Given the description of an element on the screen output the (x, y) to click on. 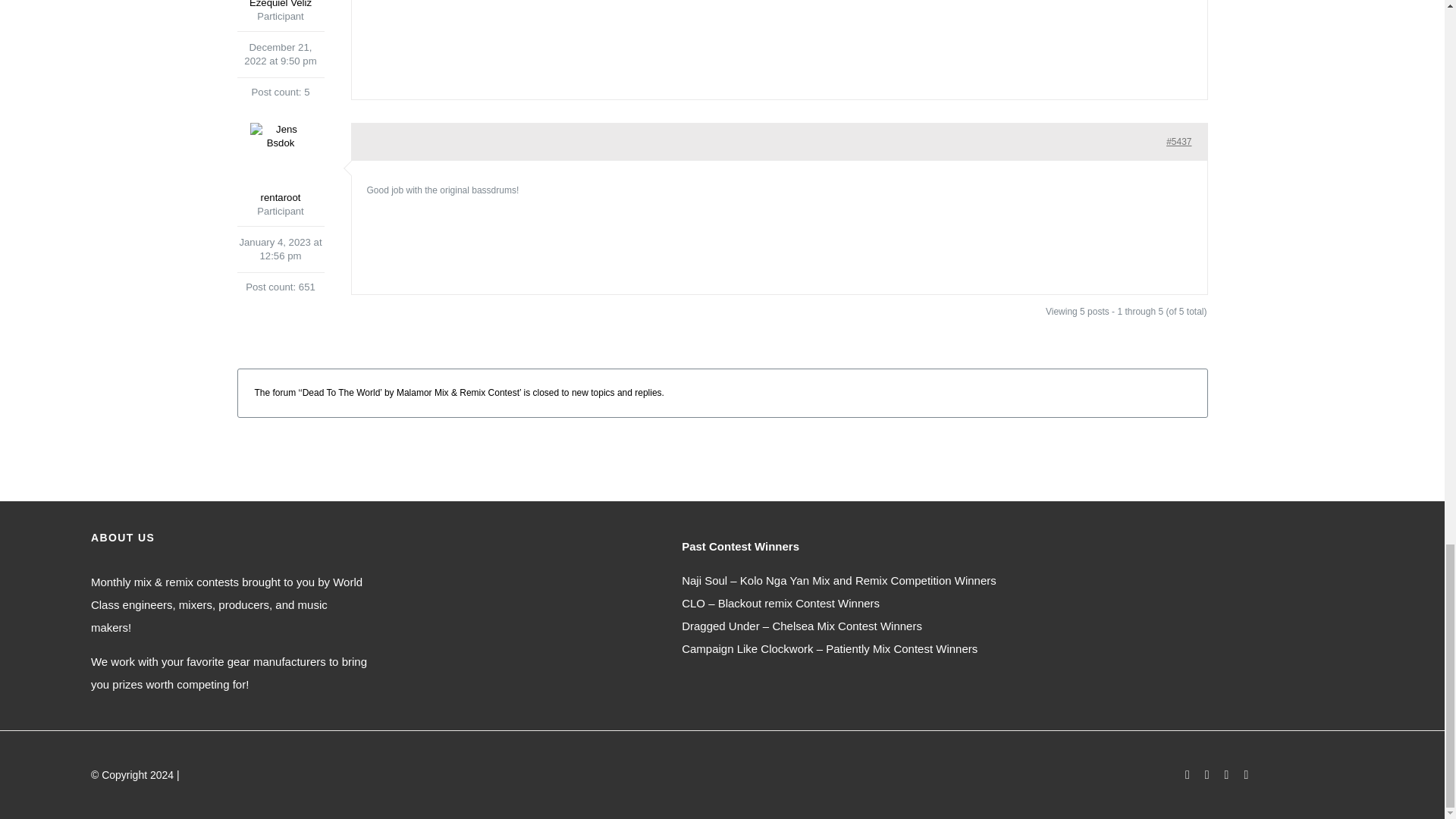
View rentaroot's profile (279, 163)
View Ezequiel Veliz's profile (279, 4)
Ezequiel Veliz (279, 4)
rentaroot (279, 163)
